Given the description of an element on the screen output the (x, y) to click on. 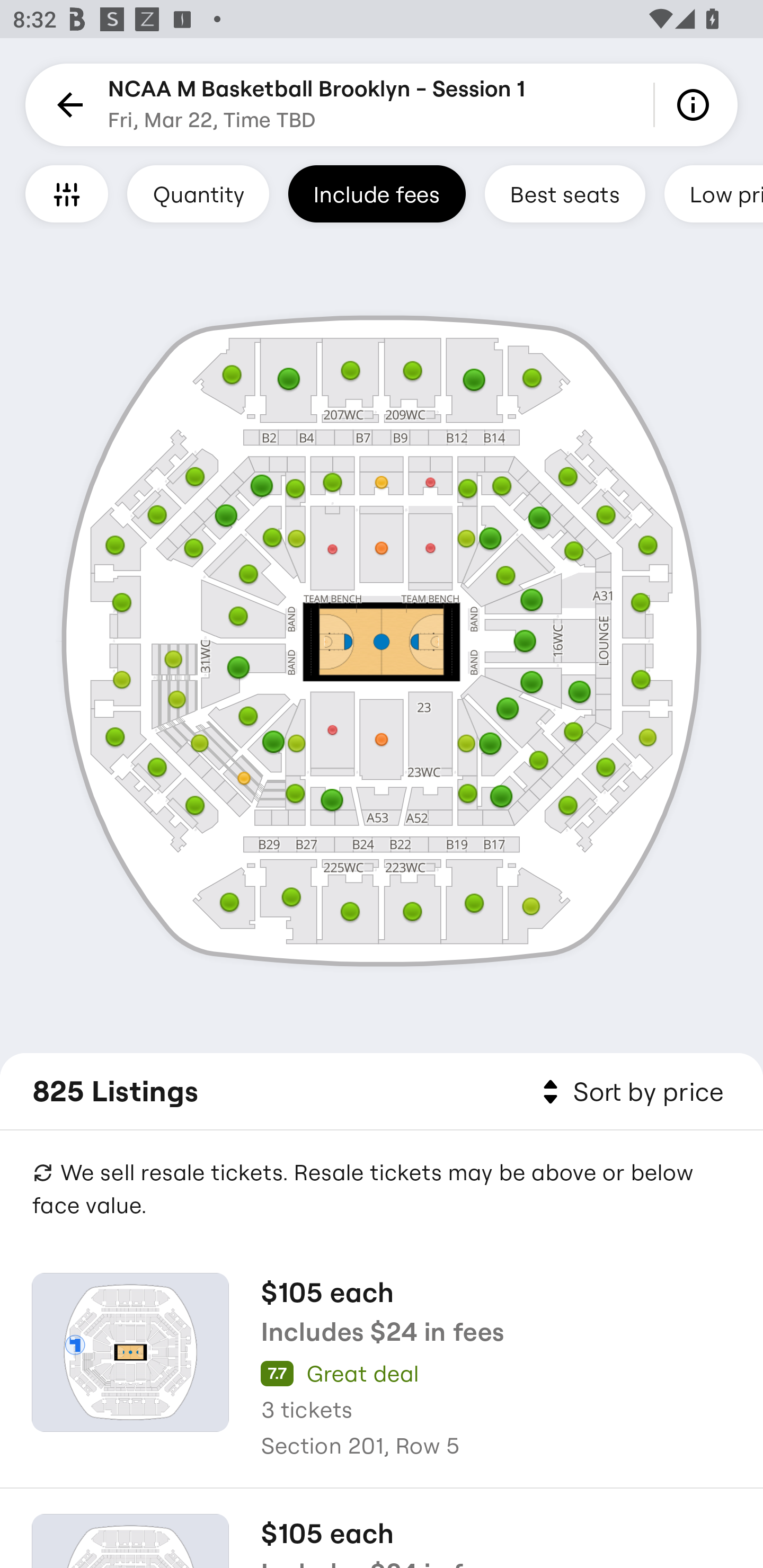
Back (66, 104)
Info (695, 104)
Filters and Accessible Seating (66, 193)
Quantity (198, 193)
Include fees (376, 193)
Best seats (564, 193)
Sort by price (629, 1091)
